Given the description of an element on the screen output the (x, y) to click on. 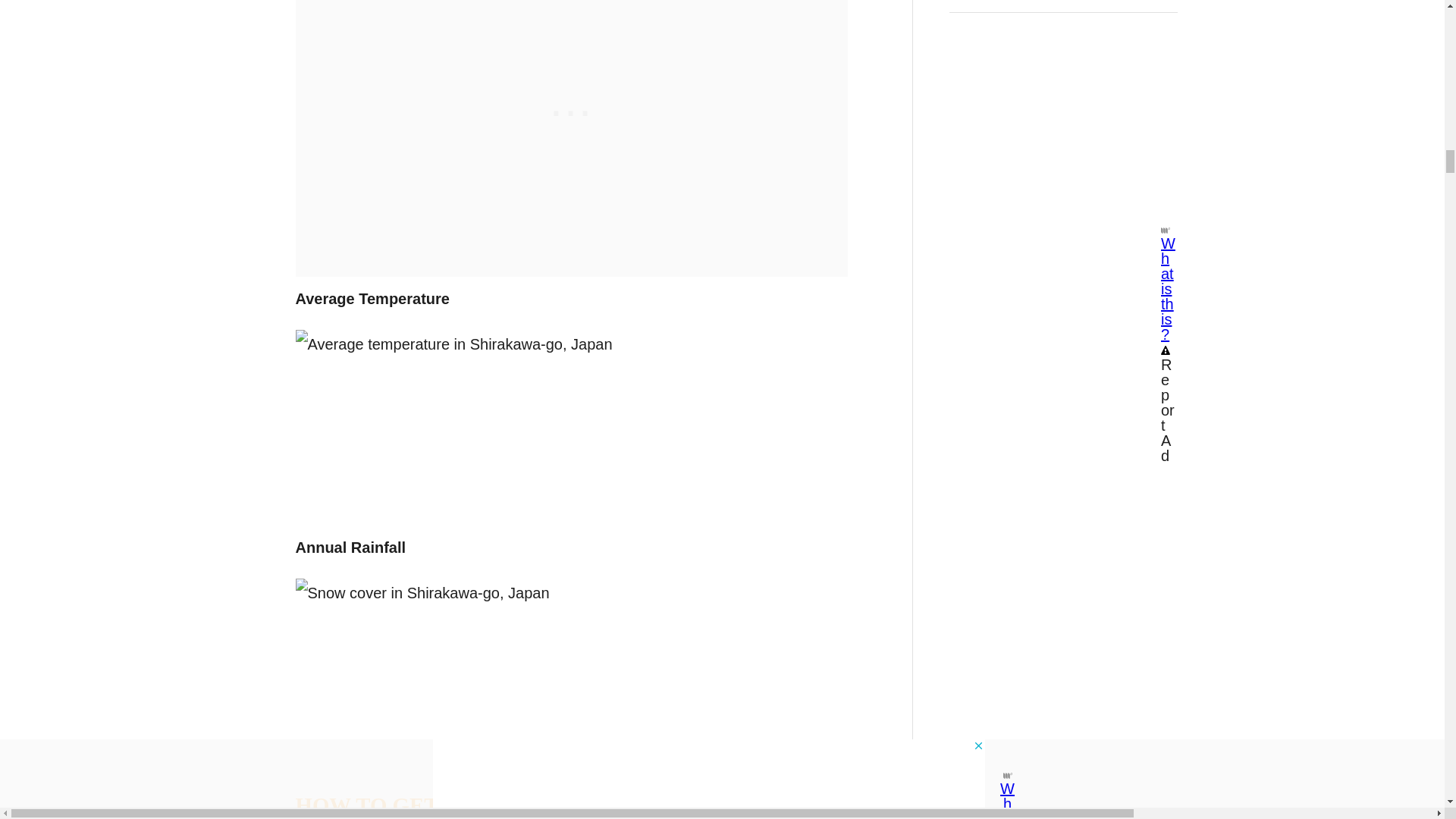
The Shirakawago Winter Travel Guide (571, 422)
The Shirakawa-go Winter Travel Guide (571, 670)
